Given the description of an element on the screen output the (x, y) to click on. 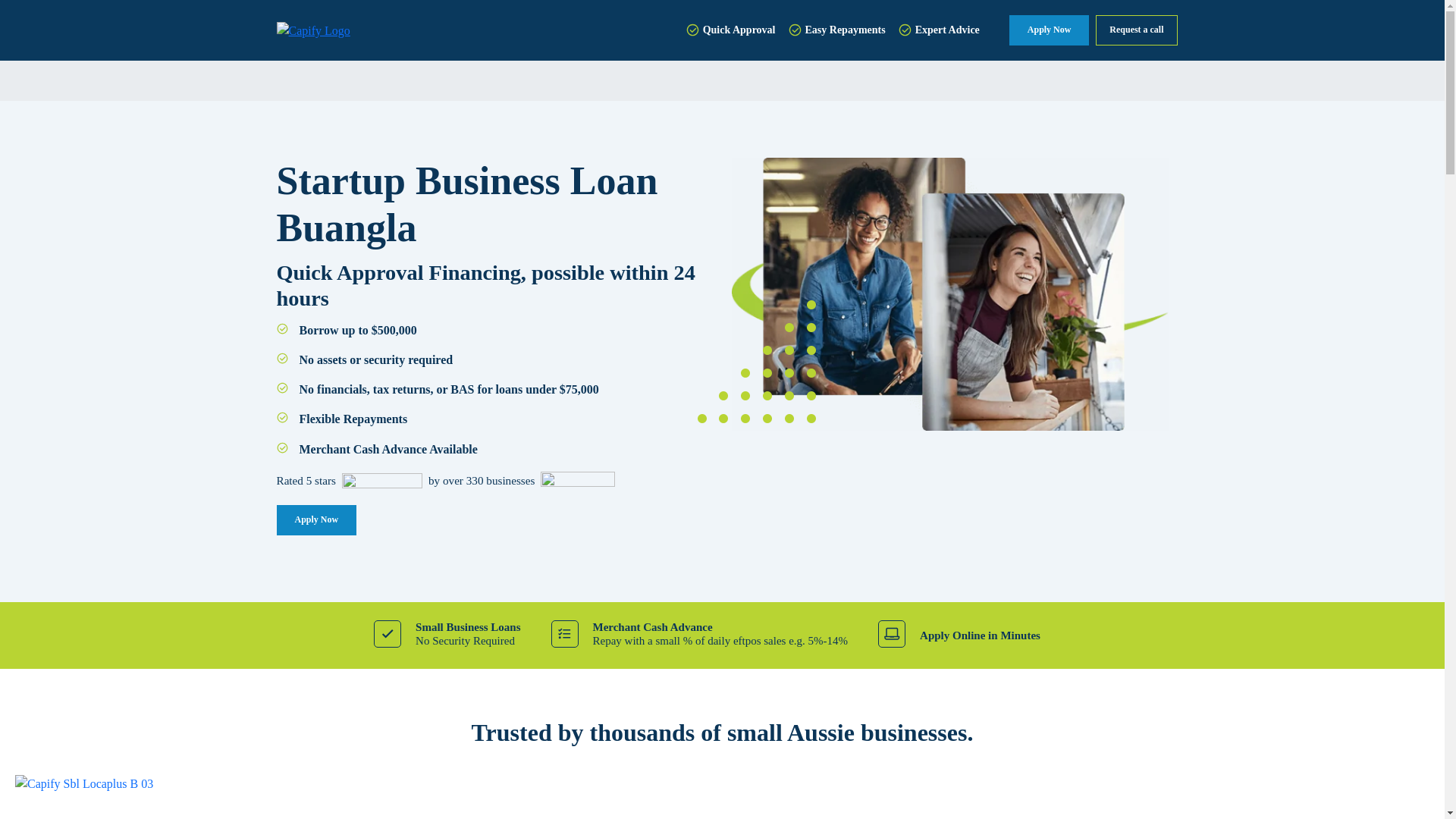
Request a call (1136, 30)
Apply Now (1049, 30)
Apply Now (316, 520)
